Given the description of an element on the screen output the (x, y) to click on. 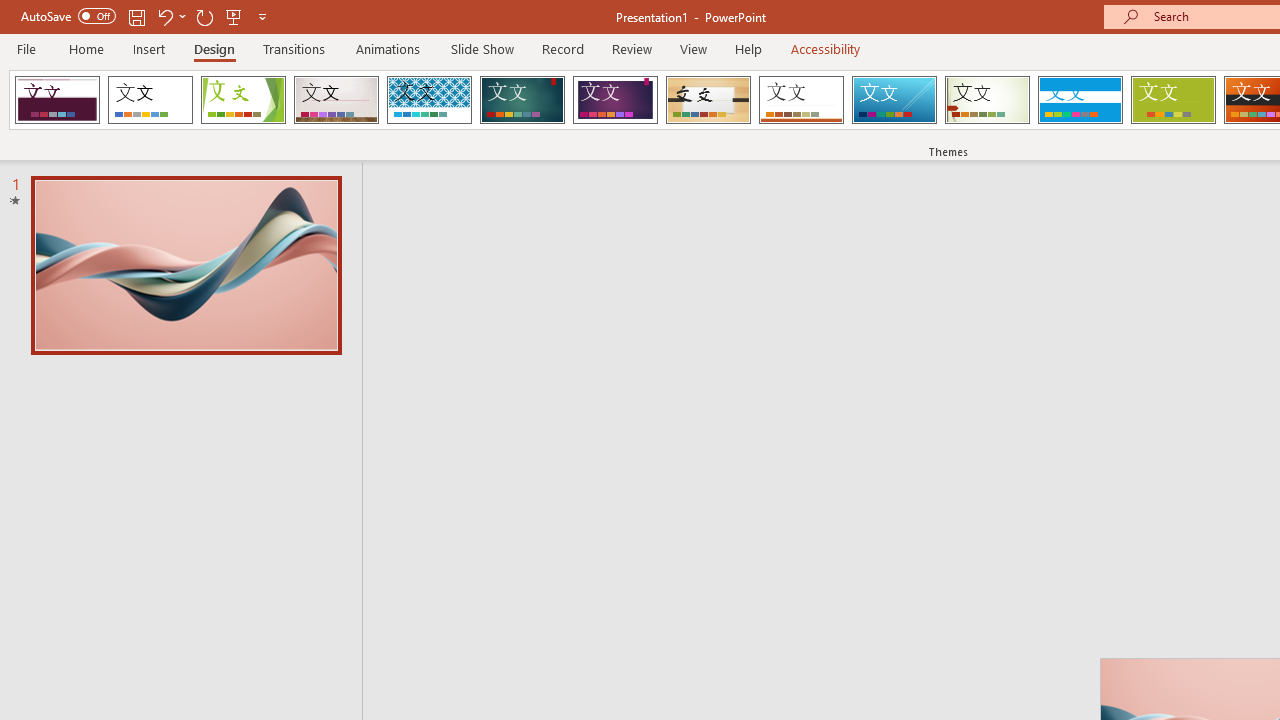
Office Theme (150, 100)
Basis (1172, 100)
Ion Boardroom (615, 100)
Banded (1080, 100)
Slice (893, 100)
